Given the description of an element on the screen output the (x, y) to click on. 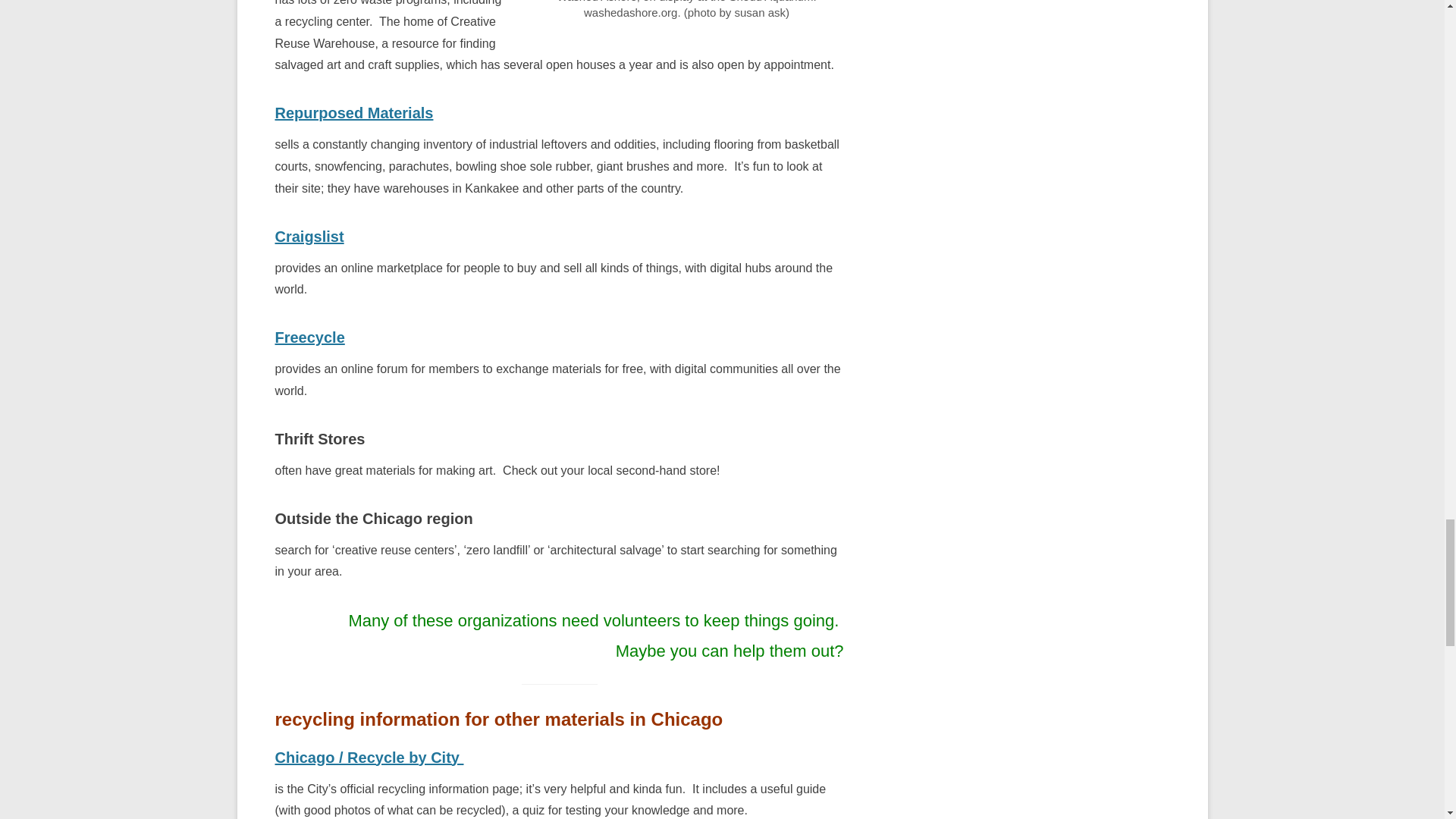
Repurposed Materials (353, 112)
Freecycle (309, 337)
Craigslist (309, 236)
